Given the description of an element on the screen output the (x, y) to click on. 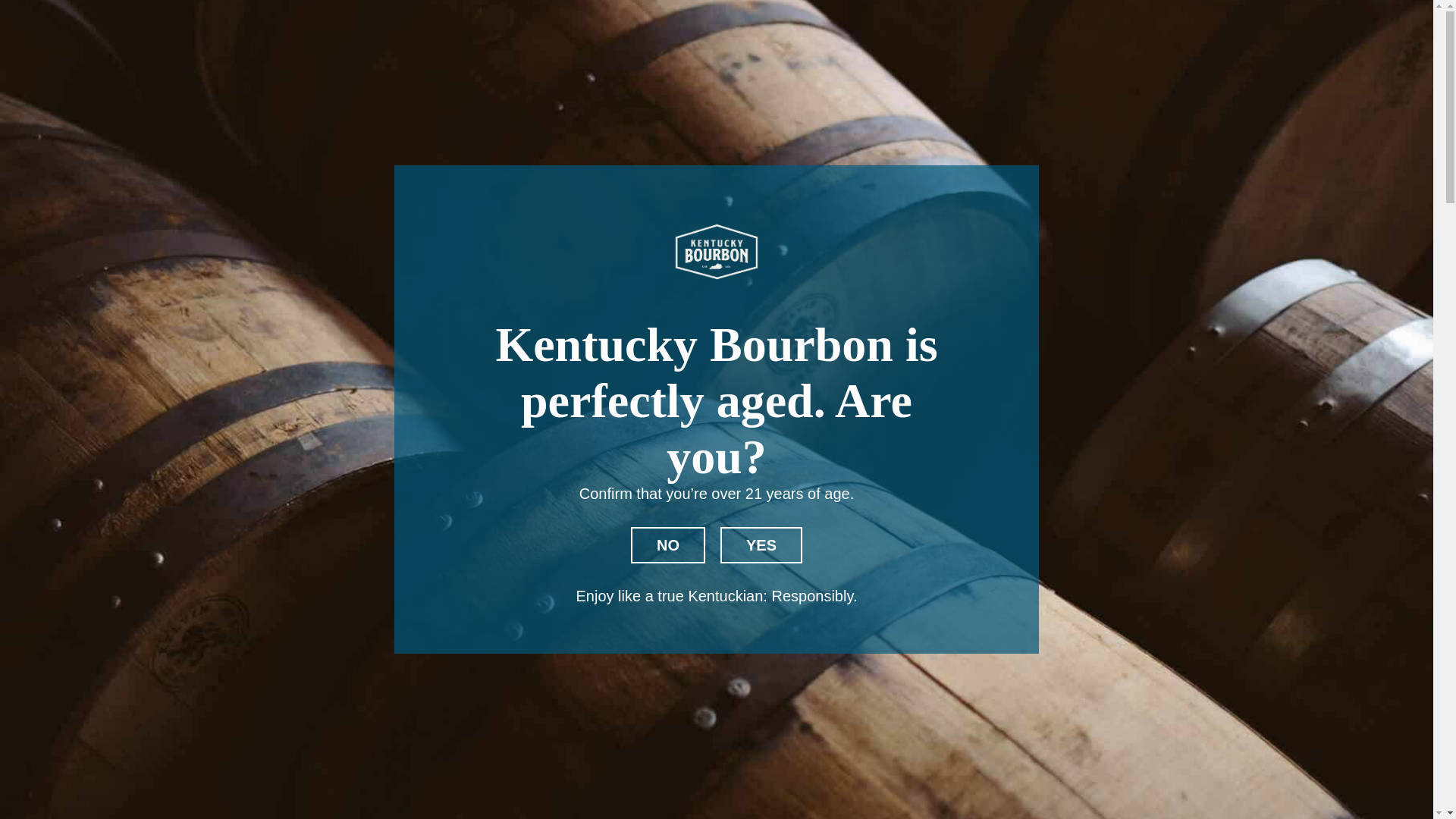
MEDIA (1280, 20)
MEMBERSHIP (1010, 20)
ADVOCACY (804, 20)
INDUSTRY (237, 20)
ENTHUSIAST (82, 20)
IMPACT (904, 20)
RESPONSIBILITY (1160, 20)
ABOUT (709, 20)
NEWS (1348, 20)
